Given the description of an element on the screen output the (x, y) to click on. 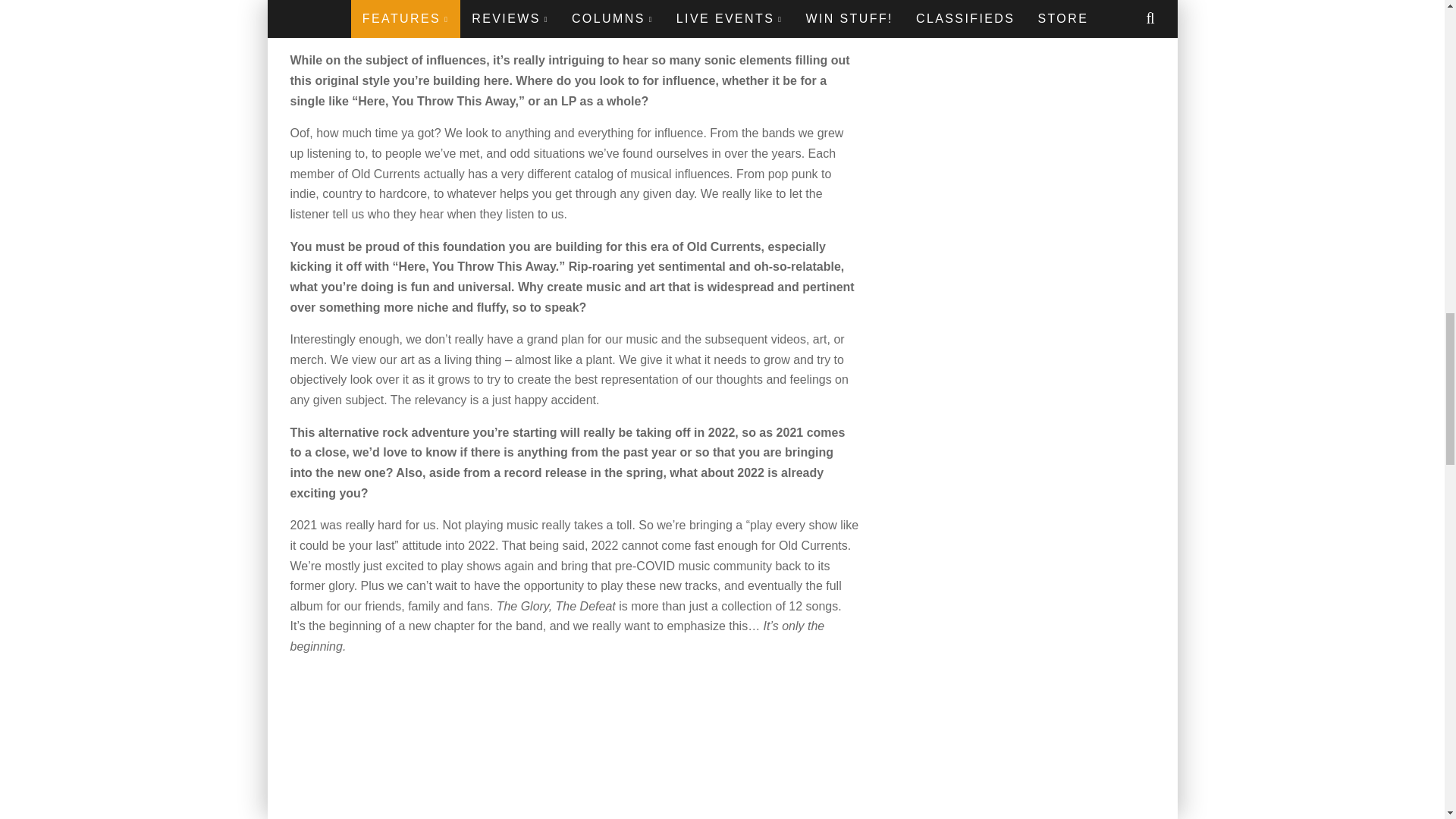
Spotify Embed: Old Currents (574, 744)
